Given the description of an element on the screen output the (x, y) to click on. 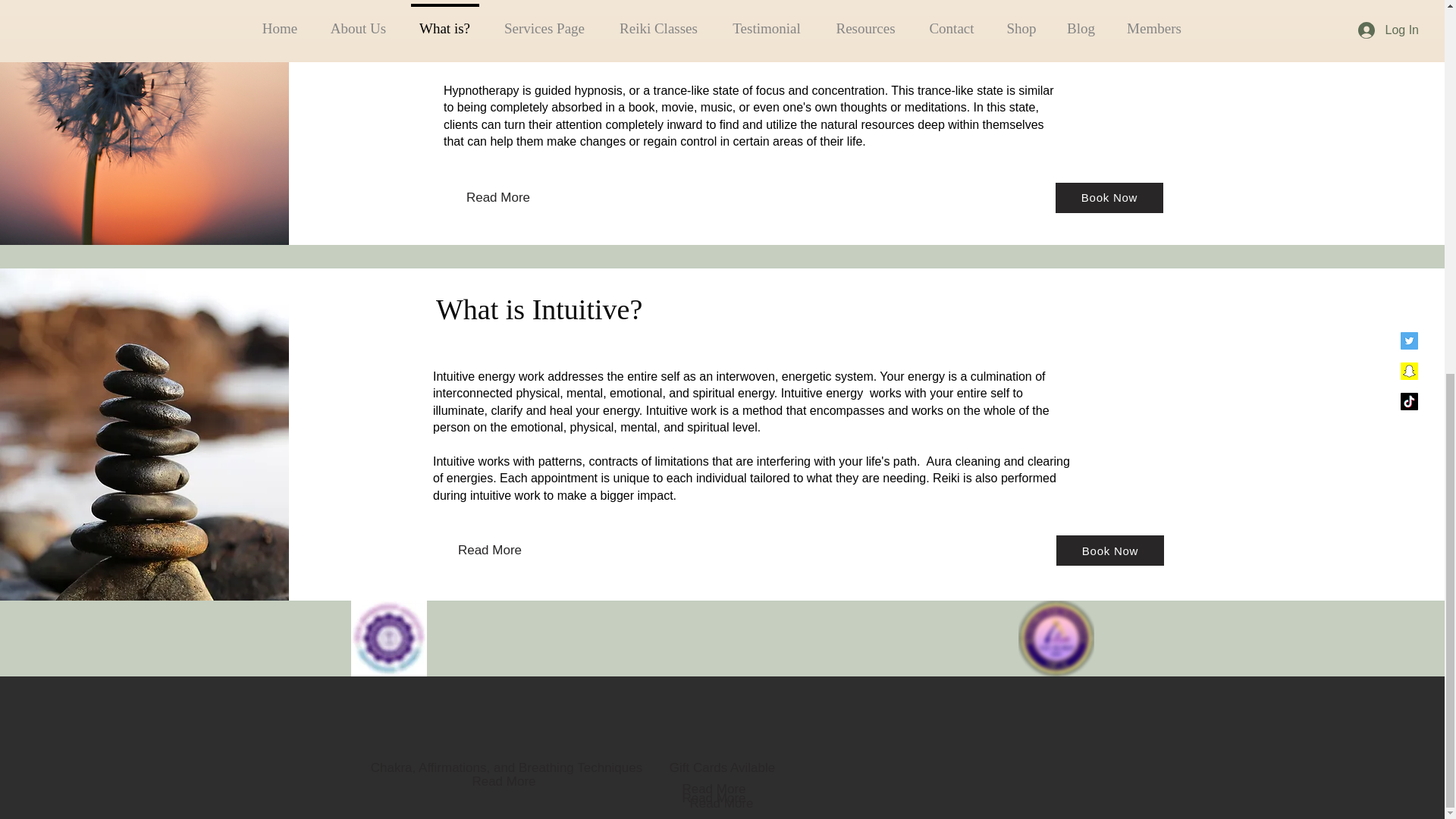
Read More (489, 550)
Read More (503, 781)
Book Now (1110, 550)
Book Now (1109, 197)
Gift Cards Avilable (722, 767)
Reiki Memebership Assoication (388, 638)
Read More (497, 197)
Chakra, Affirmations, and Breathing Techniques (507, 767)
Read More (713, 798)
Read More (713, 788)
